Given the description of an element on the screen output the (x, y) to click on. 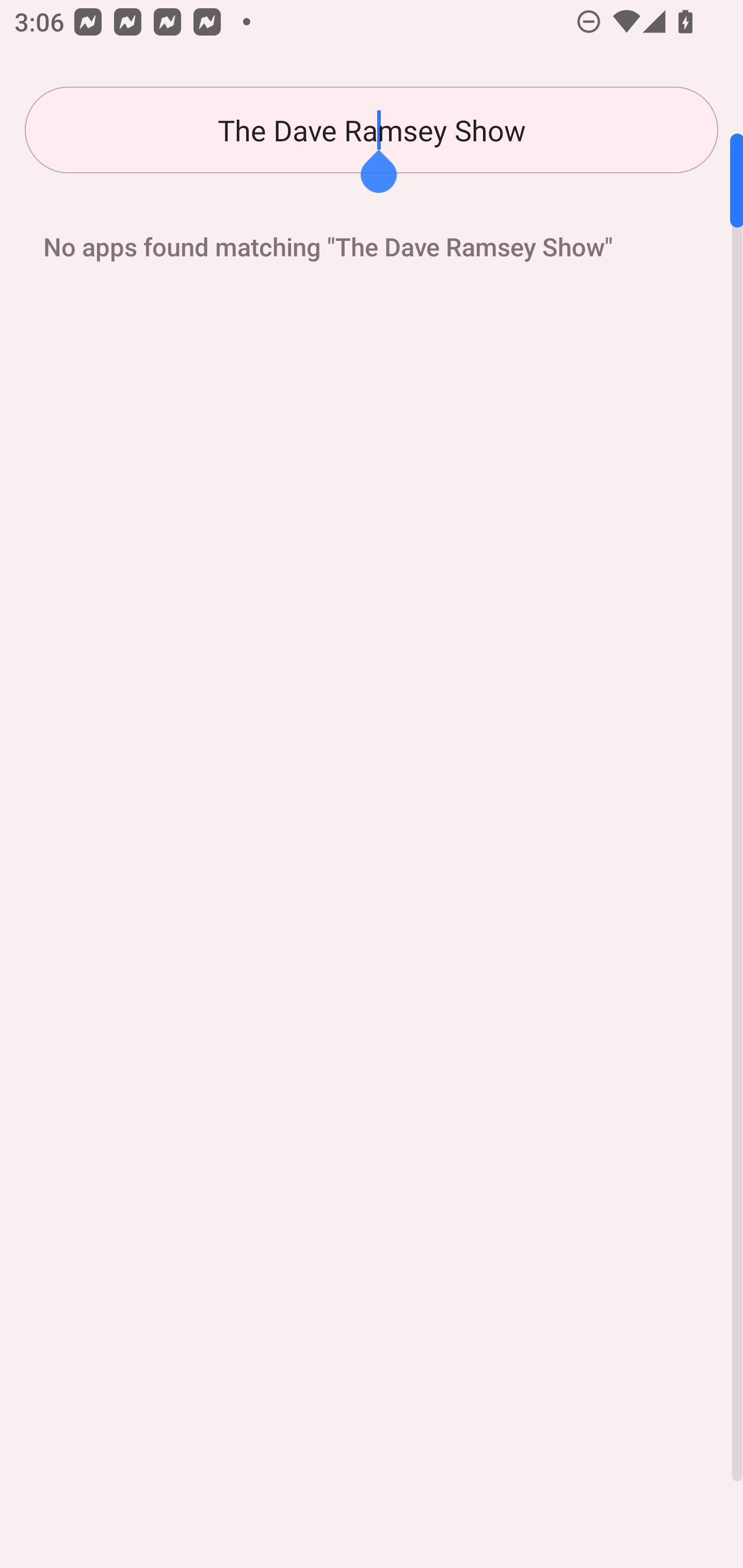
The Dave Ramsey Show (371, 130)
